Given the description of an element on the screen output the (x, y) to click on. 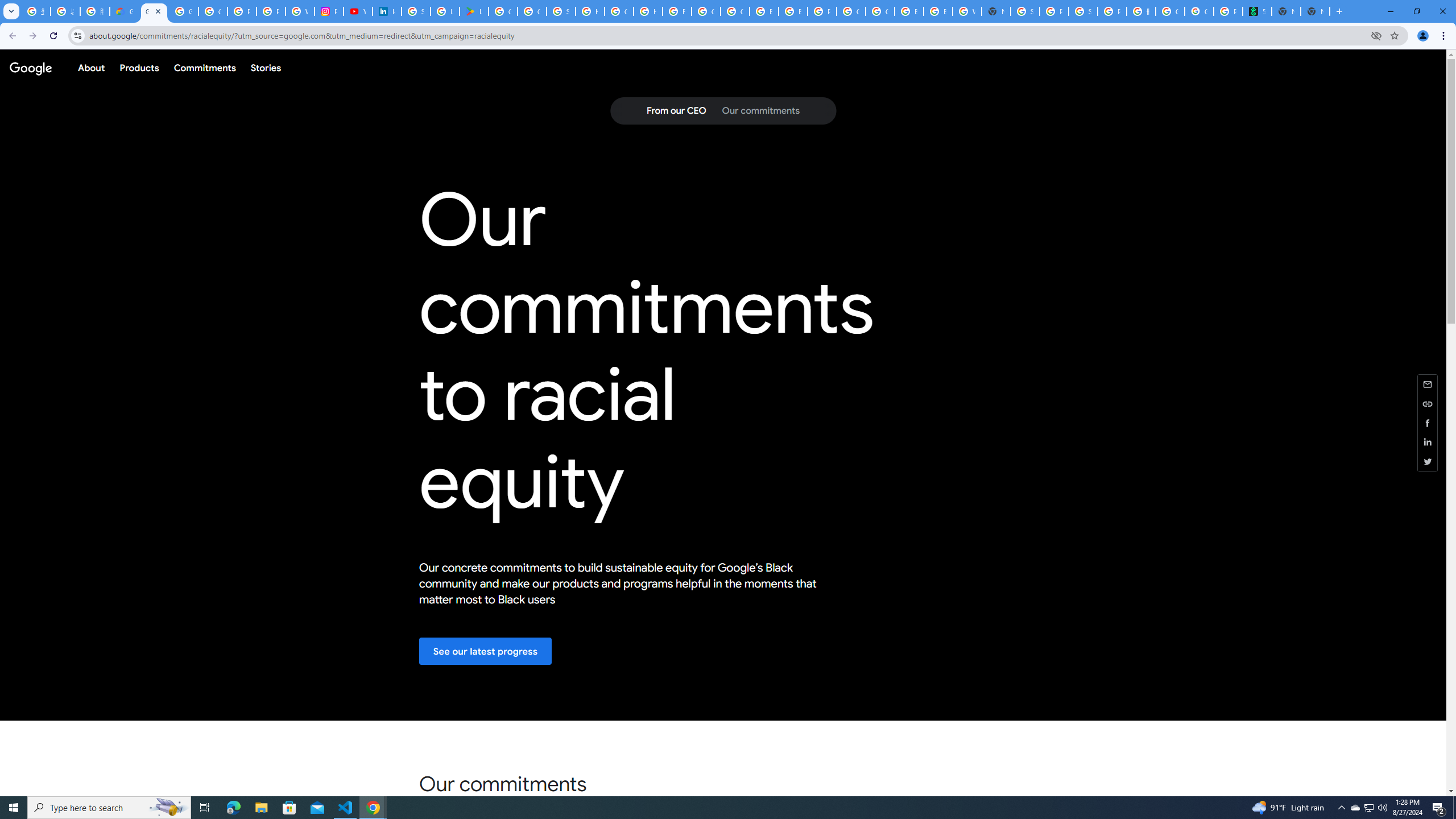
Google Cloud Platform (879, 11)
How do I create a new Google Account? - Google Account Help (648, 11)
Google Workspace - Specific Terms (531, 11)
Browse Chrome as a guest - Computer - Google Chrome Help (763, 11)
Products (138, 67)
Google Cloud Platform (850, 11)
